Given the description of an element on the screen output the (x, y) to click on. 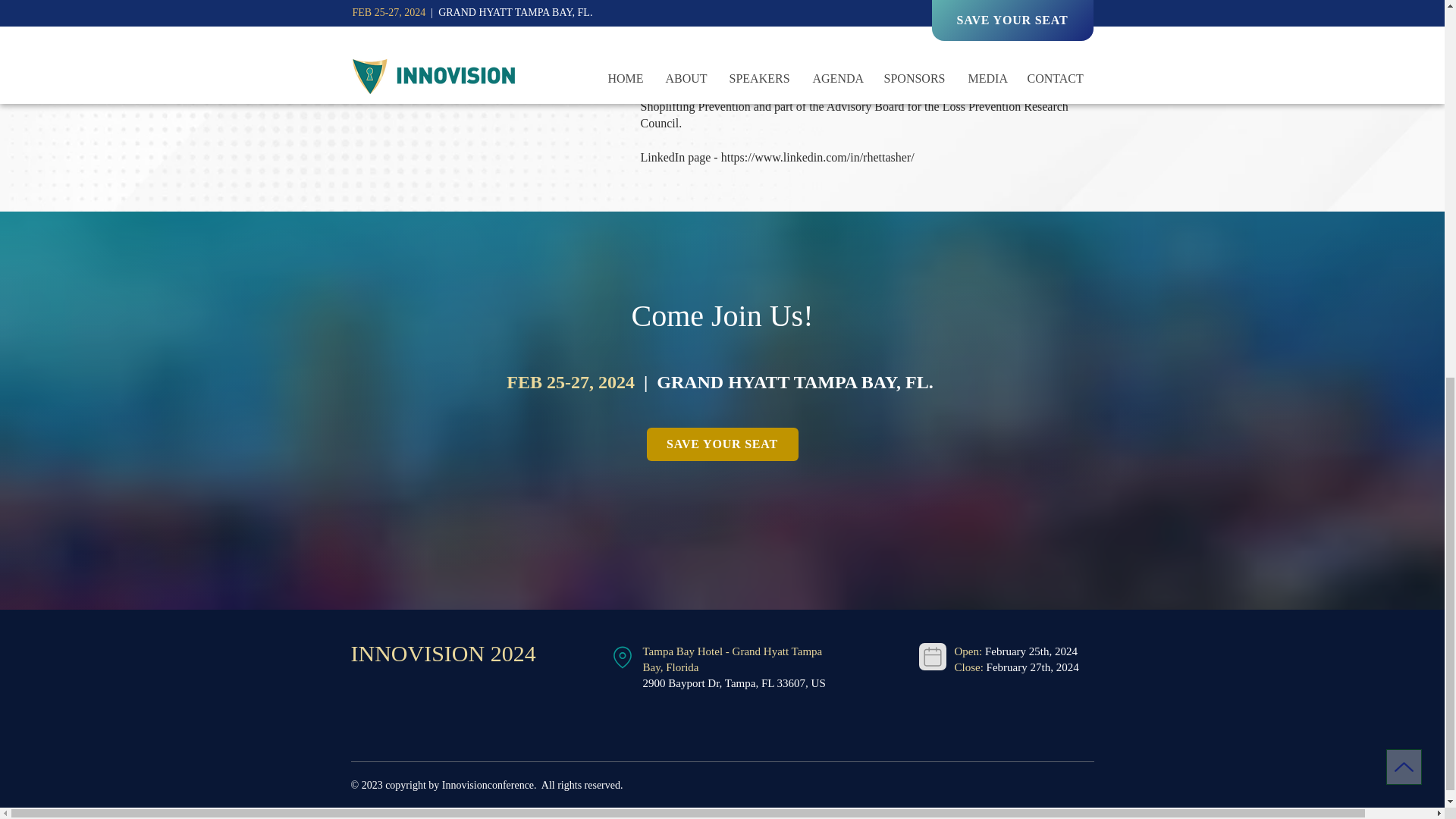
2900 Bayport Dr, Tampa, FL 33607, US (734, 683)
INNOVISION 2024 (442, 652)
SAVE YOUR SEAT (721, 444)
